Given the description of an element on the screen output the (x, y) to click on. 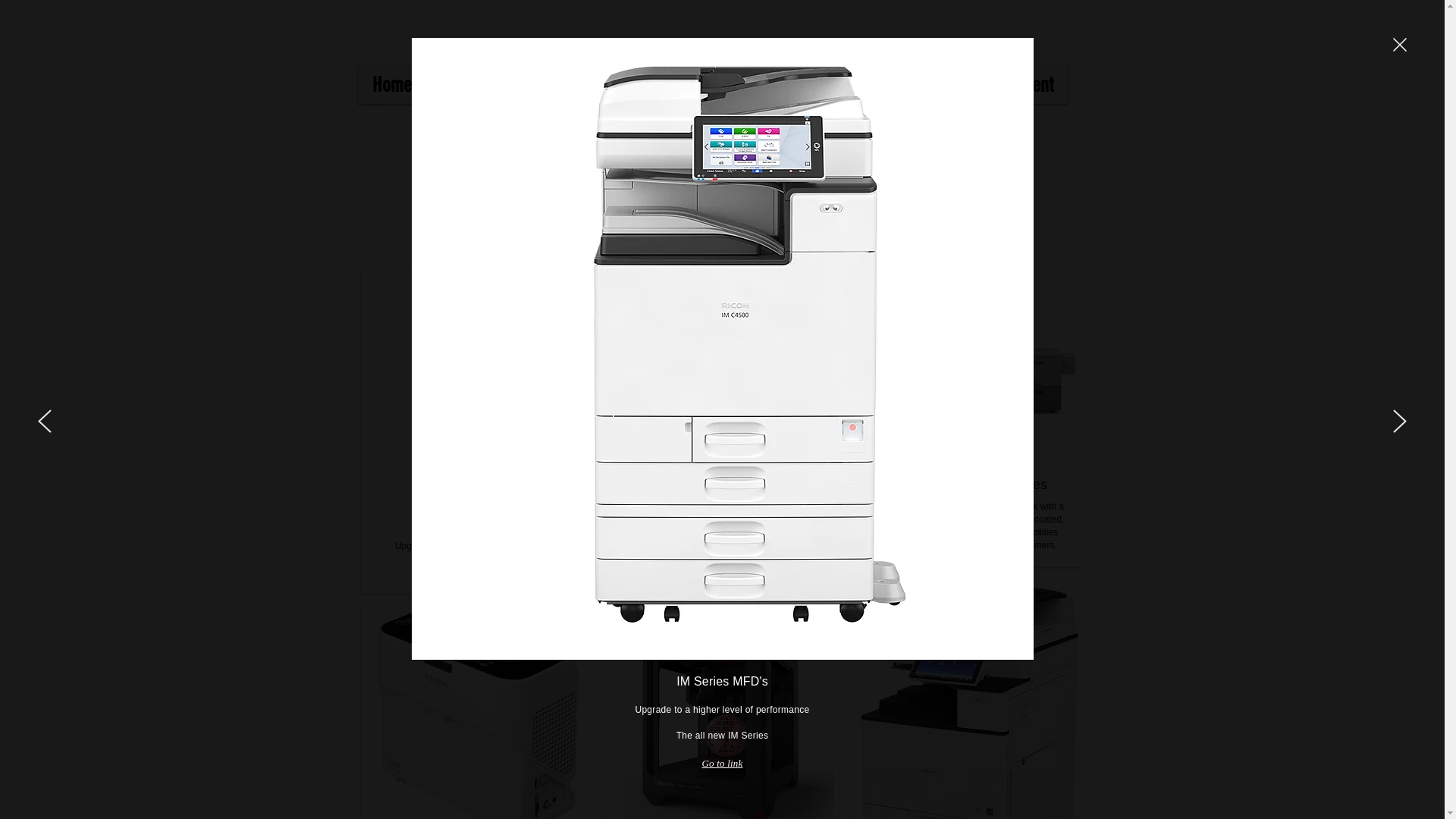
Contact Us Element type: text (771, 84)
Our Services Element type: text (663, 84)
Go to link Element type: text (721, 763)
Book A Service Element type: text (888, 84)
Home Element type: text (391, 84)
Products and Services Element type: text (516, 84)
Environment Element type: text (1009, 84)
